Given the description of an element on the screen output the (x, y) to click on. 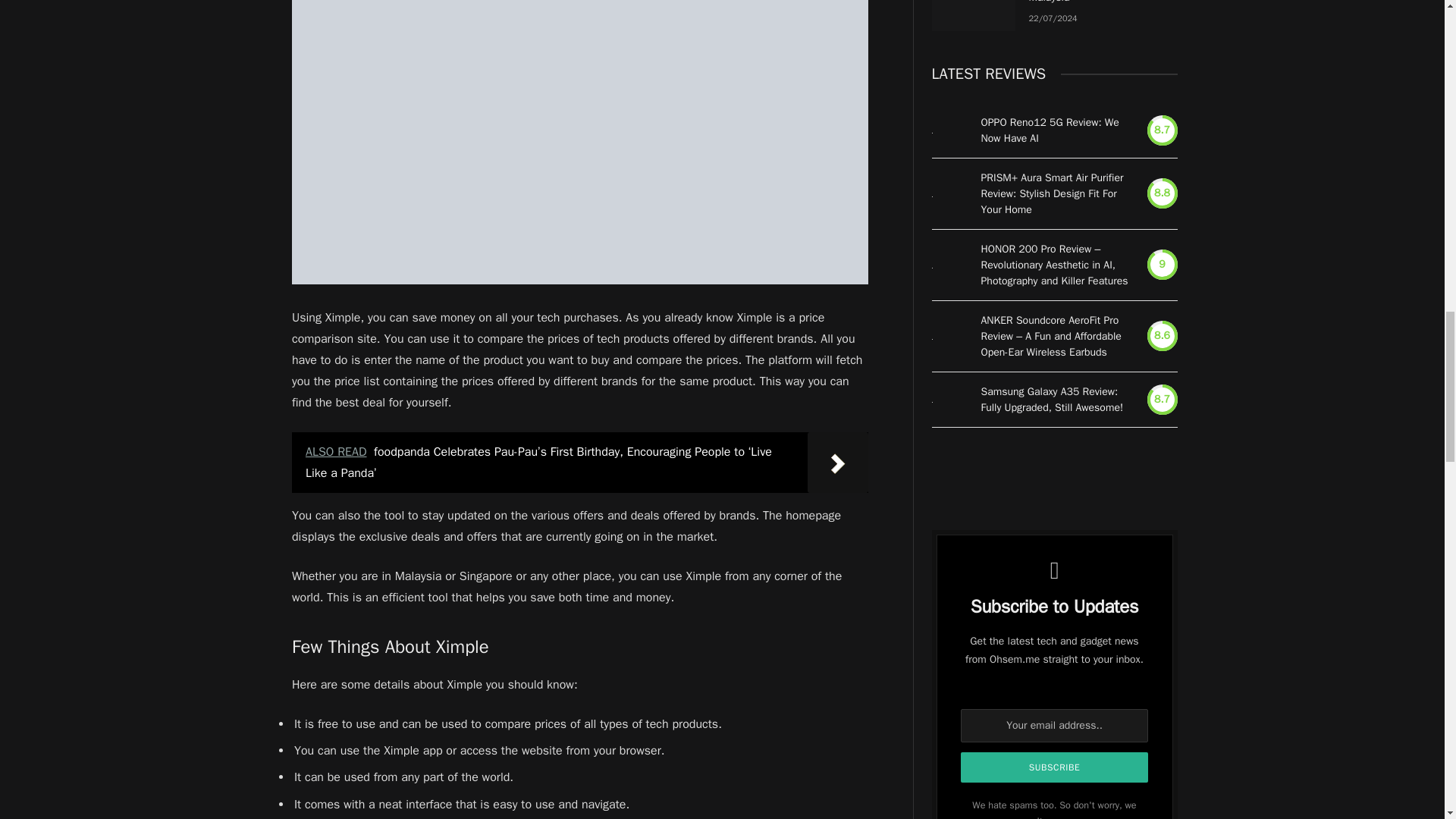
Subscribe (1053, 767)
